Given the description of an element on the screen output the (x, y) to click on. 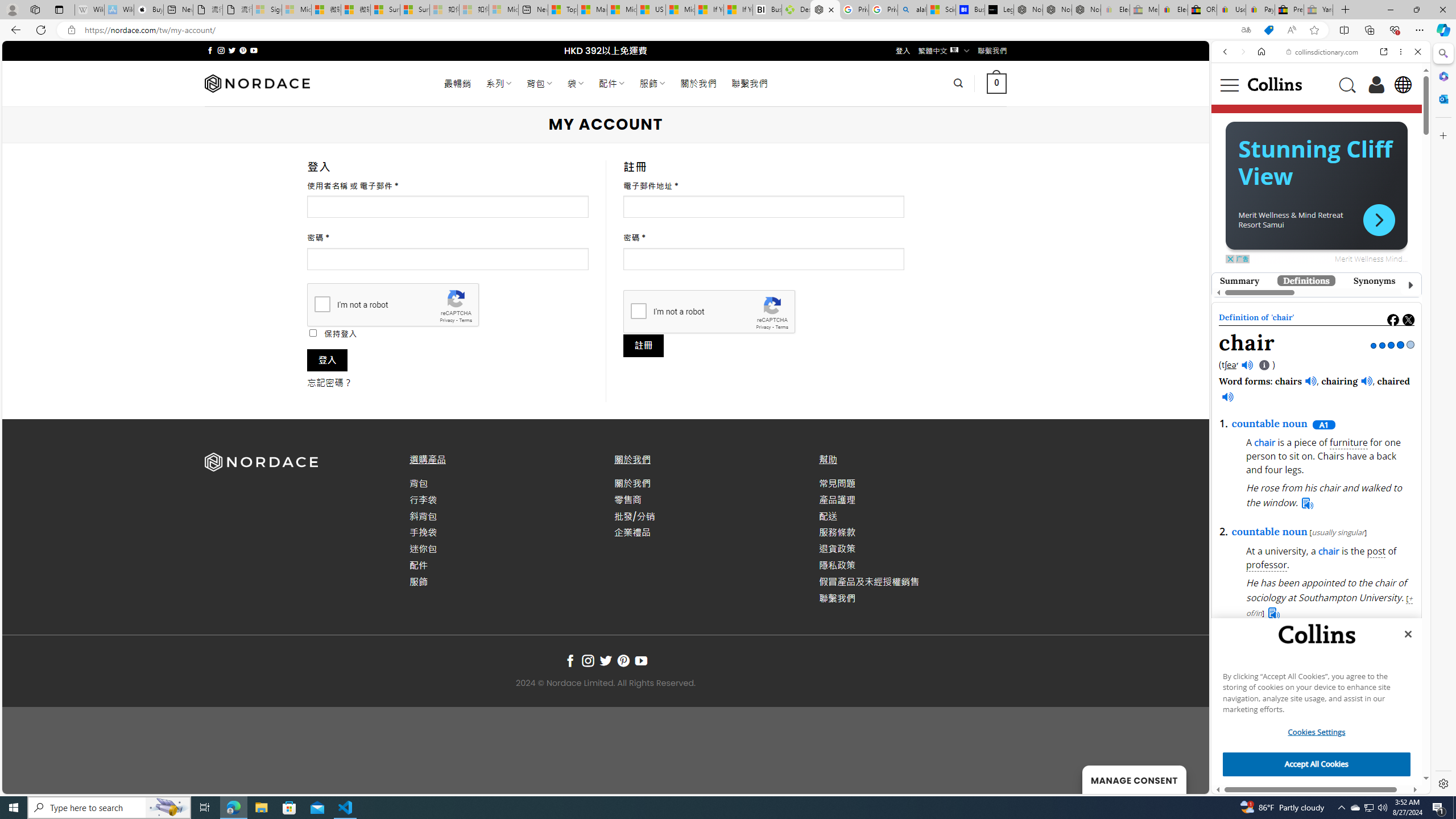
professor (1266, 565)
Log In (1376, 84)
Accept All Cookies (1316, 764)
